Given the description of an element on the screen output the (x, y) to click on. 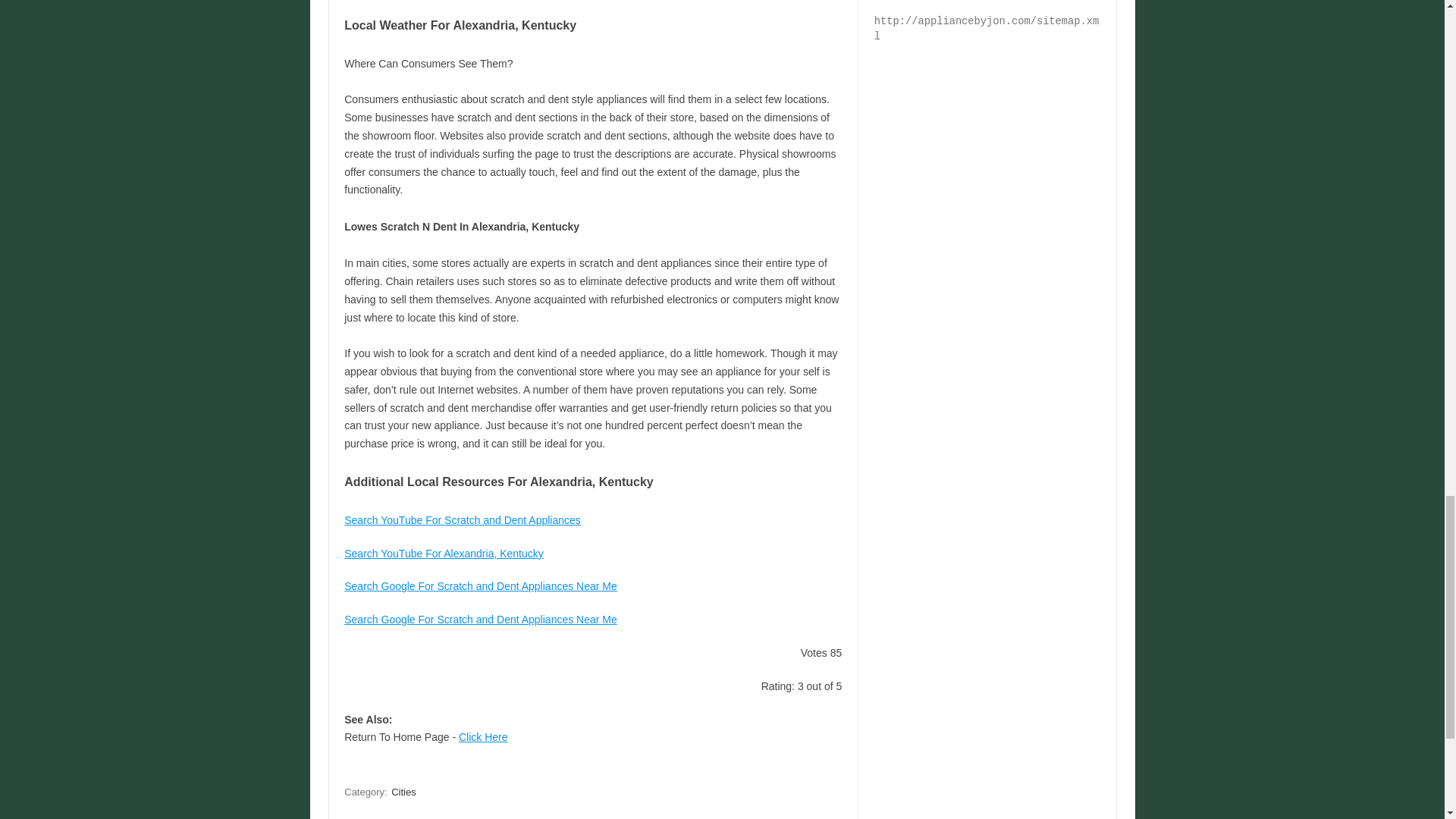
Click Here (483, 736)
Search Google For Scratch and Dent Appliances Near Me (480, 585)
Search YouTube For Alexandria, Kentucky (443, 553)
Search YouTube For Scratch and Dent Appliances (461, 520)
Search Google For Scratch and Dent Appliances Near Me (480, 619)
Cities (403, 791)
